Given the description of an element on the screen output the (x, y) to click on. 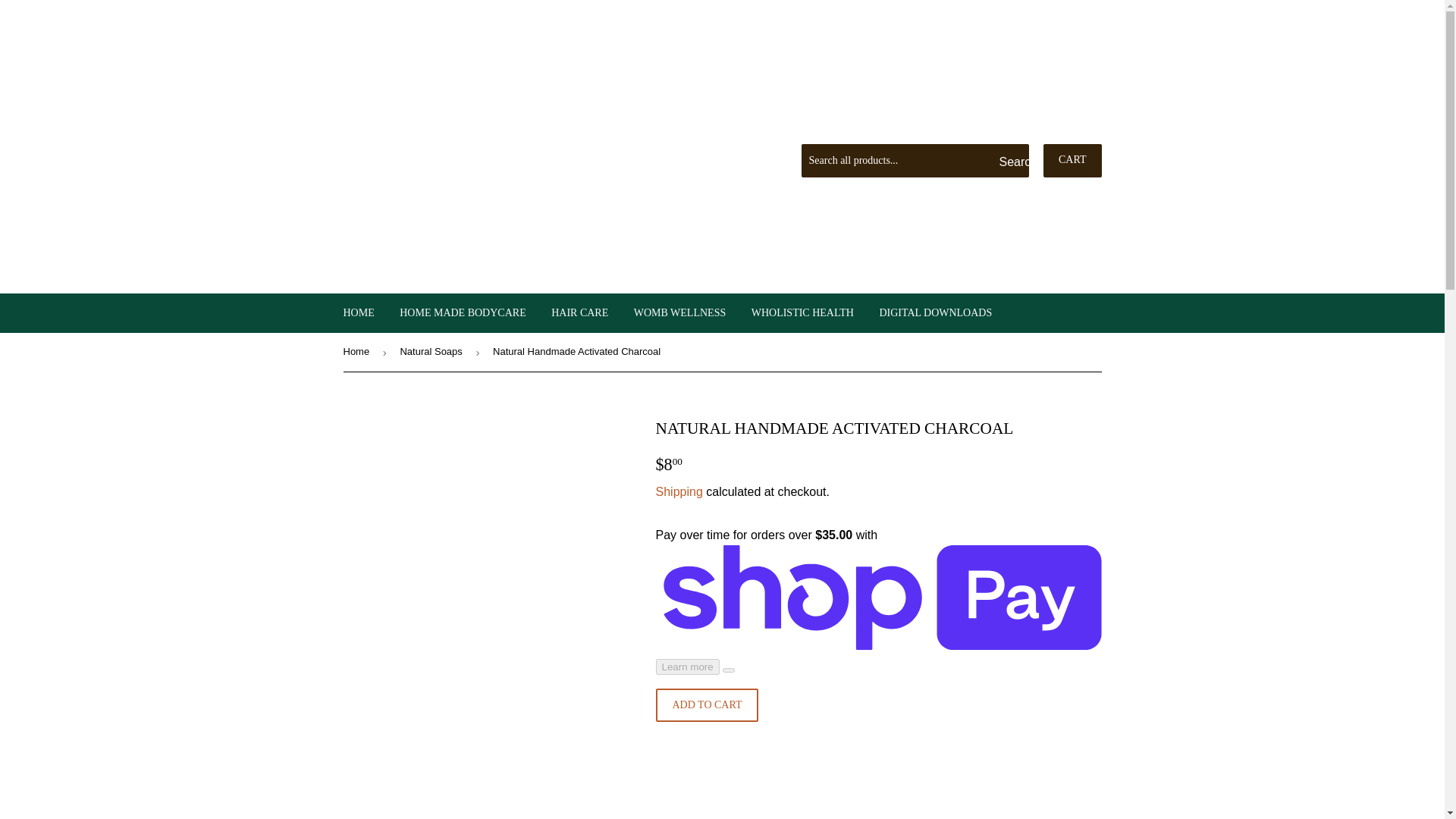
HOME (358, 312)
HOME MADE BODYCARE (462, 312)
Search (1011, 161)
CART (1072, 160)
